Given the description of an element on the screen output the (x, y) to click on. 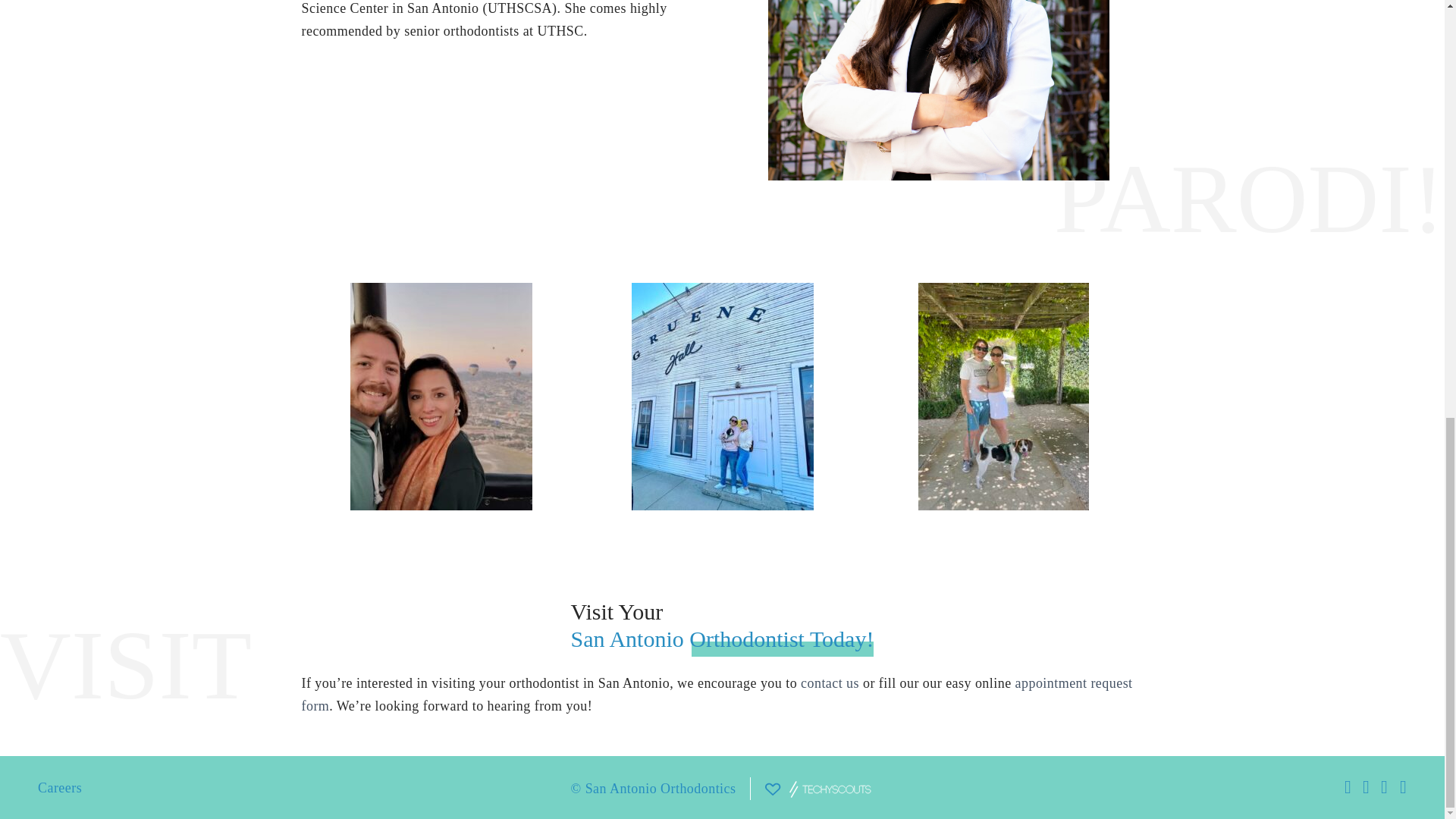
Made with love by TechyScouts (817, 789)
